Given the description of an element on the screen output the (x, y) to click on. 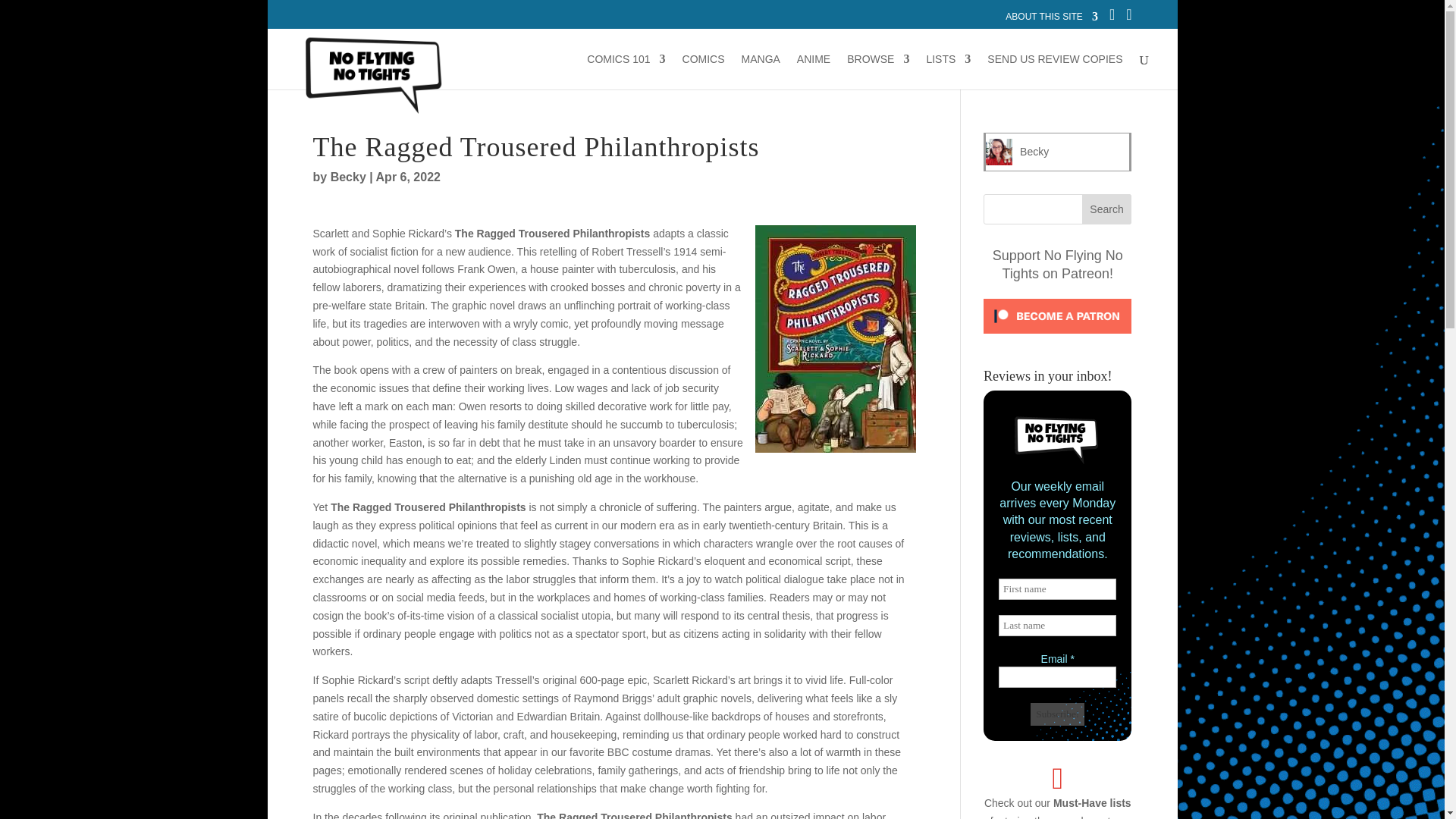
SEND US REVIEW COPIES (1054, 71)
Search (1106, 209)
COMICS (703, 71)
Email (1057, 676)
Last name (1057, 625)
LISTS (948, 71)
BROWSE (877, 71)
First name (1057, 588)
ABOUT THIS SITE (1051, 19)
Becky (1034, 151)
Subscribe! (1057, 713)
MANGA (760, 71)
Posts by Becky (348, 176)
ANIME (812, 71)
COMICS 101 (625, 71)
